Given the description of an element on the screen output the (x, y) to click on. 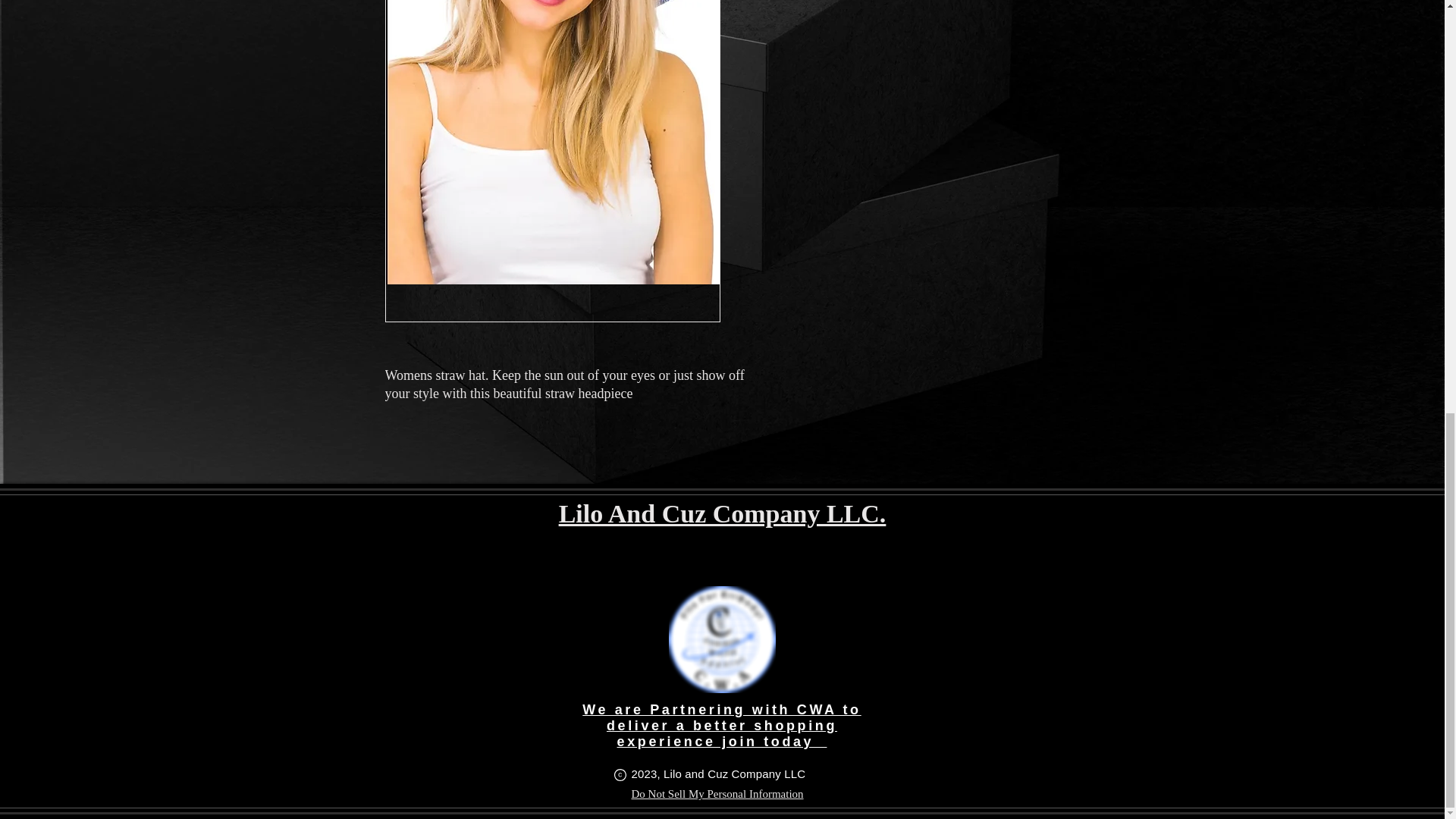
Lilo And Cuz Company LLC. (722, 513)
Do Not Sell My Personal Information (716, 794)
